Given the description of an element on the screen output the (x, y) to click on. 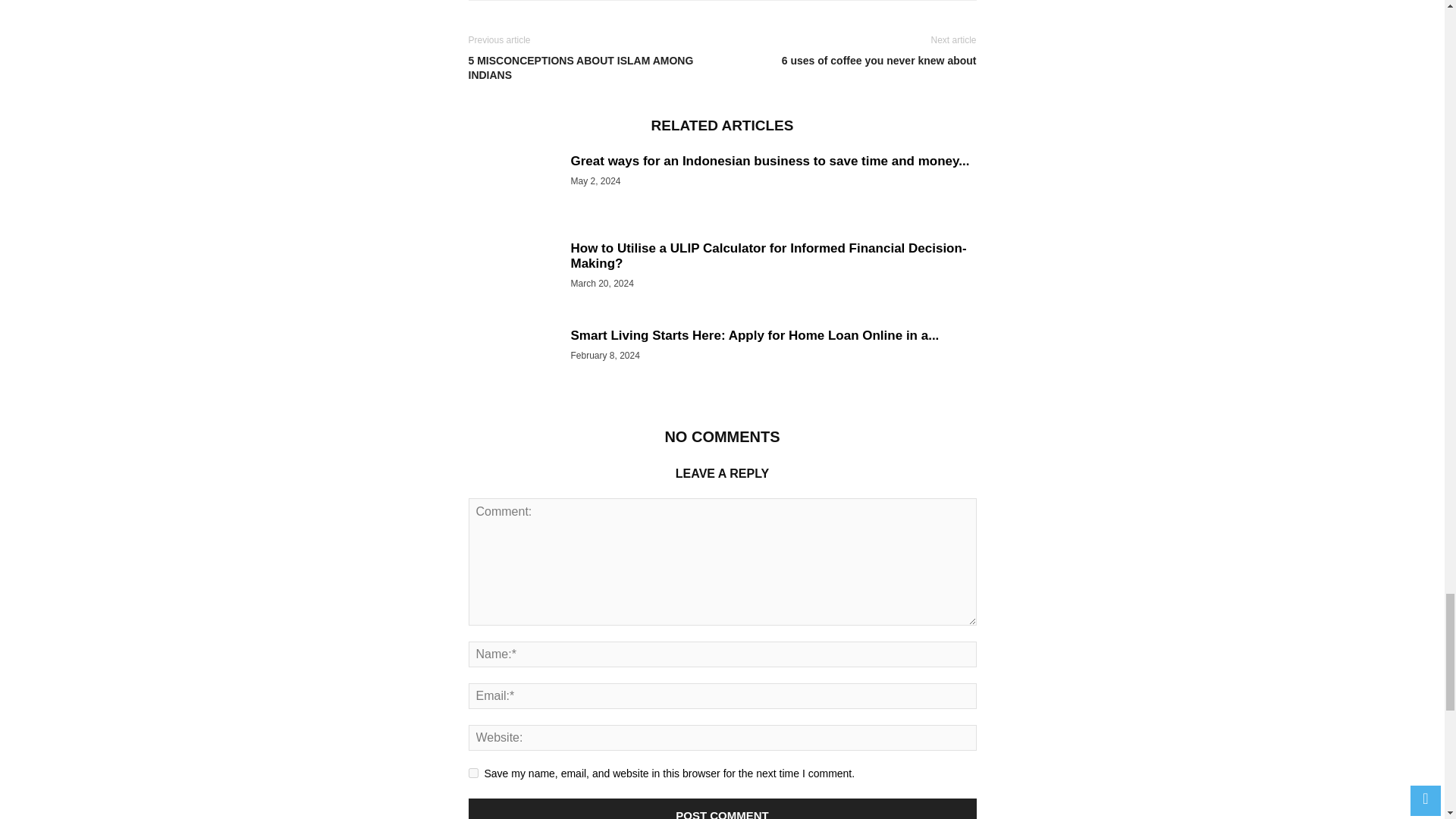
6 uses of coffee you never knew about (852, 60)
5 MISCONCEPTIONS ABOUT ISLAM AMONG INDIANS (591, 68)
Smart Living Starts Here: Apply for Home Loan Online in a... (754, 335)
Post Comment (722, 808)
yes (473, 773)
Post Comment (722, 808)
